Given the description of an element on the screen output the (x, y) to click on. 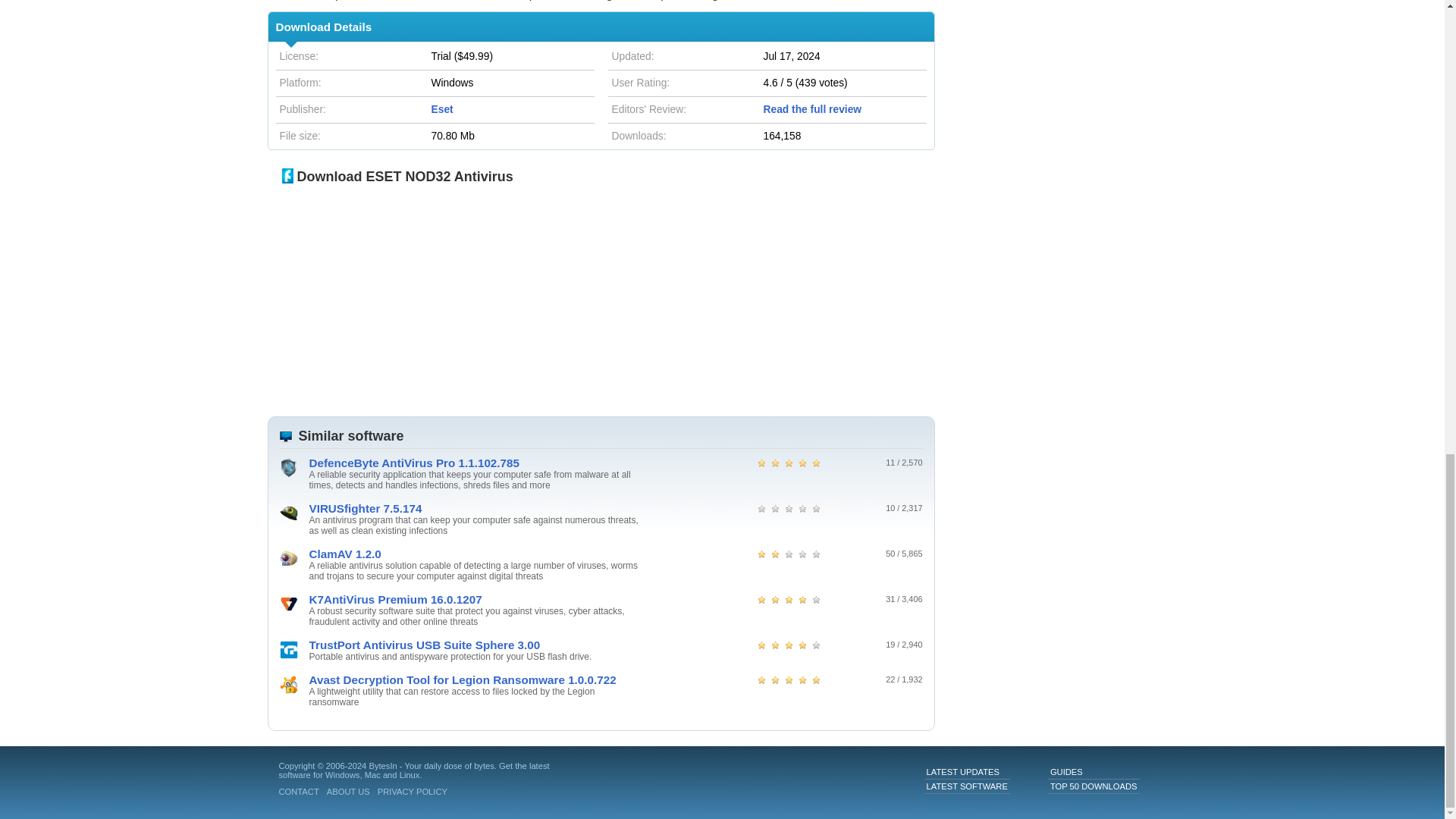
Avast Decryption Tool for Legion Ransomware 1.0.0.722 (475, 679)
Eset (441, 109)
ClamAV 1.2.0 (475, 553)
TrustPort Antivirus USB Suite Sphere 3.00 (475, 644)
K7AntiVirus Premium 16.0.1207 (475, 599)
Download ESET NOD32 Antivirus (397, 176)
Read the full review (811, 109)
VIRUSfighter 7.5.174 (475, 508)
DefenceByte AntiVirus Pro 1.1.102.785 (475, 462)
